Given the description of an element on the screen output the (x, y) to click on. 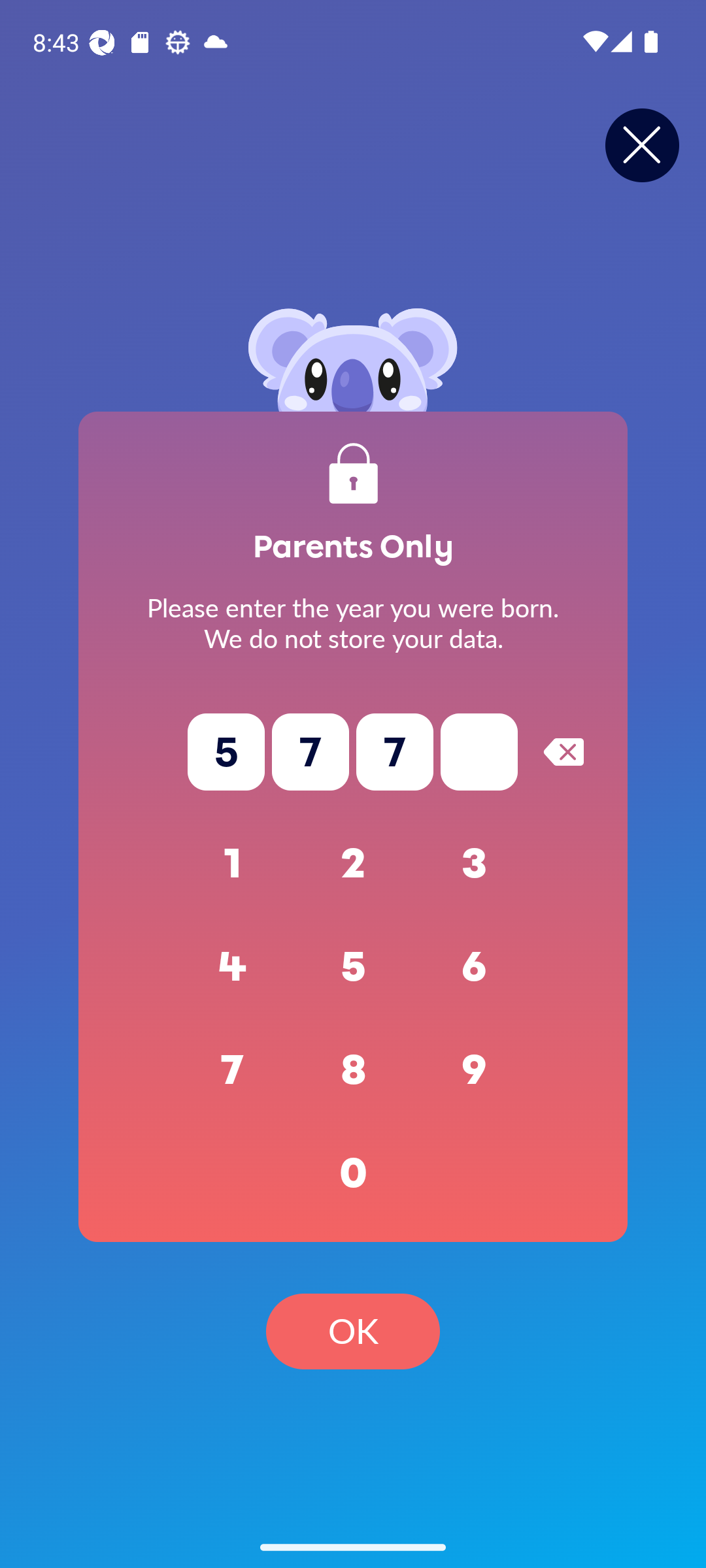
Delete (563, 751)
1 (232, 863)
2 (353, 863)
3 (474, 863)
4 (232, 966)
5 (353, 966)
6 (474, 966)
7 (232, 1069)
8 (353, 1069)
9 (474, 1069)
0 (353, 1173)
OK (352, 1331)
